Given the description of an element on the screen output the (x, y) to click on. 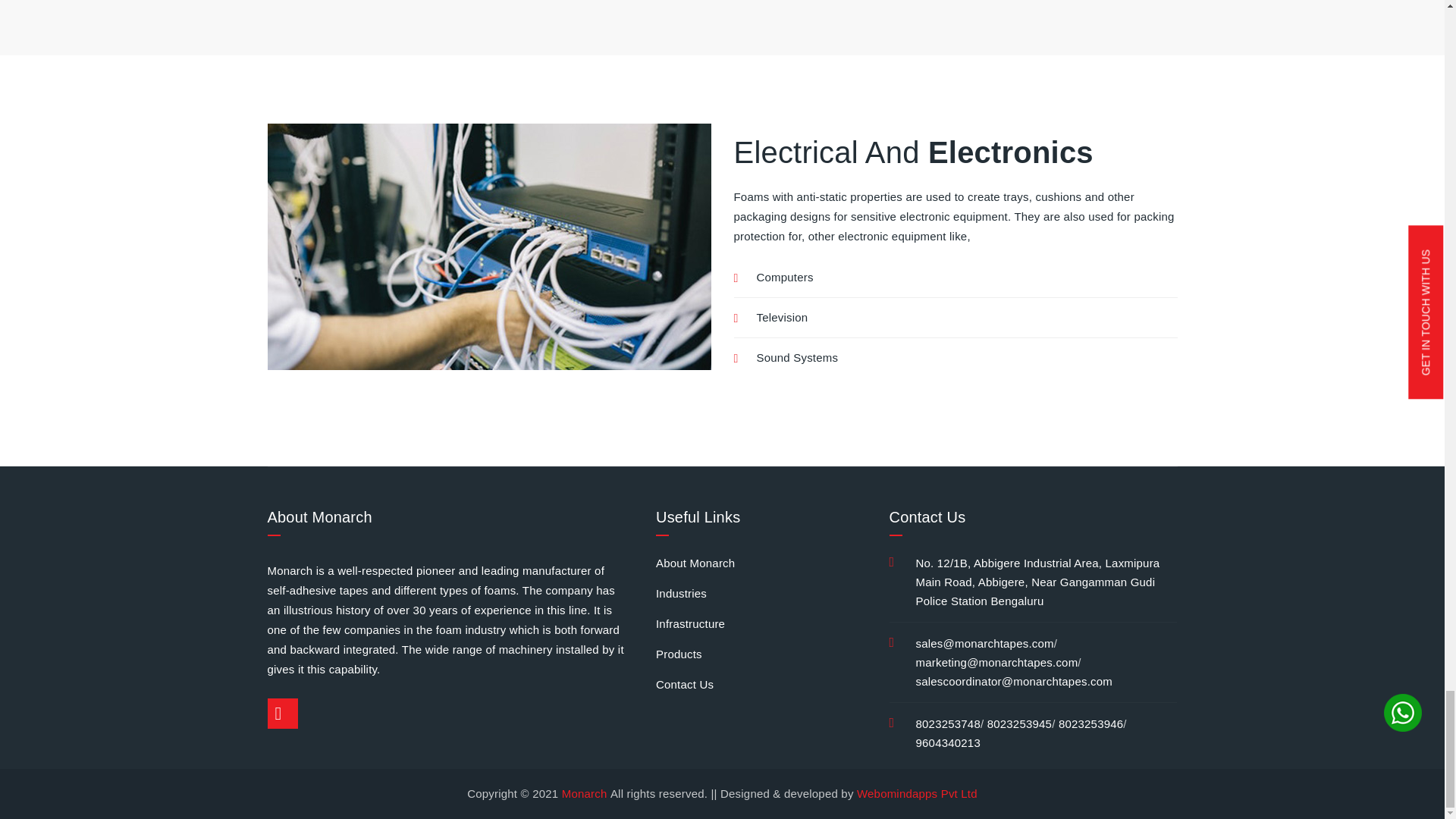
Infrastructure (690, 623)
Industries (681, 593)
8023253748 (947, 723)
About Monarch (695, 563)
9604340213 (947, 742)
8023253946 (1090, 723)
Webomindapps Pvt Ltd (914, 793)
8023253945 (1019, 723)
Products (678, 654)
Contact Us (684, 684)
Monarch (586, 793)
